Given the description of an element on the screen output the (x, y) to click on. 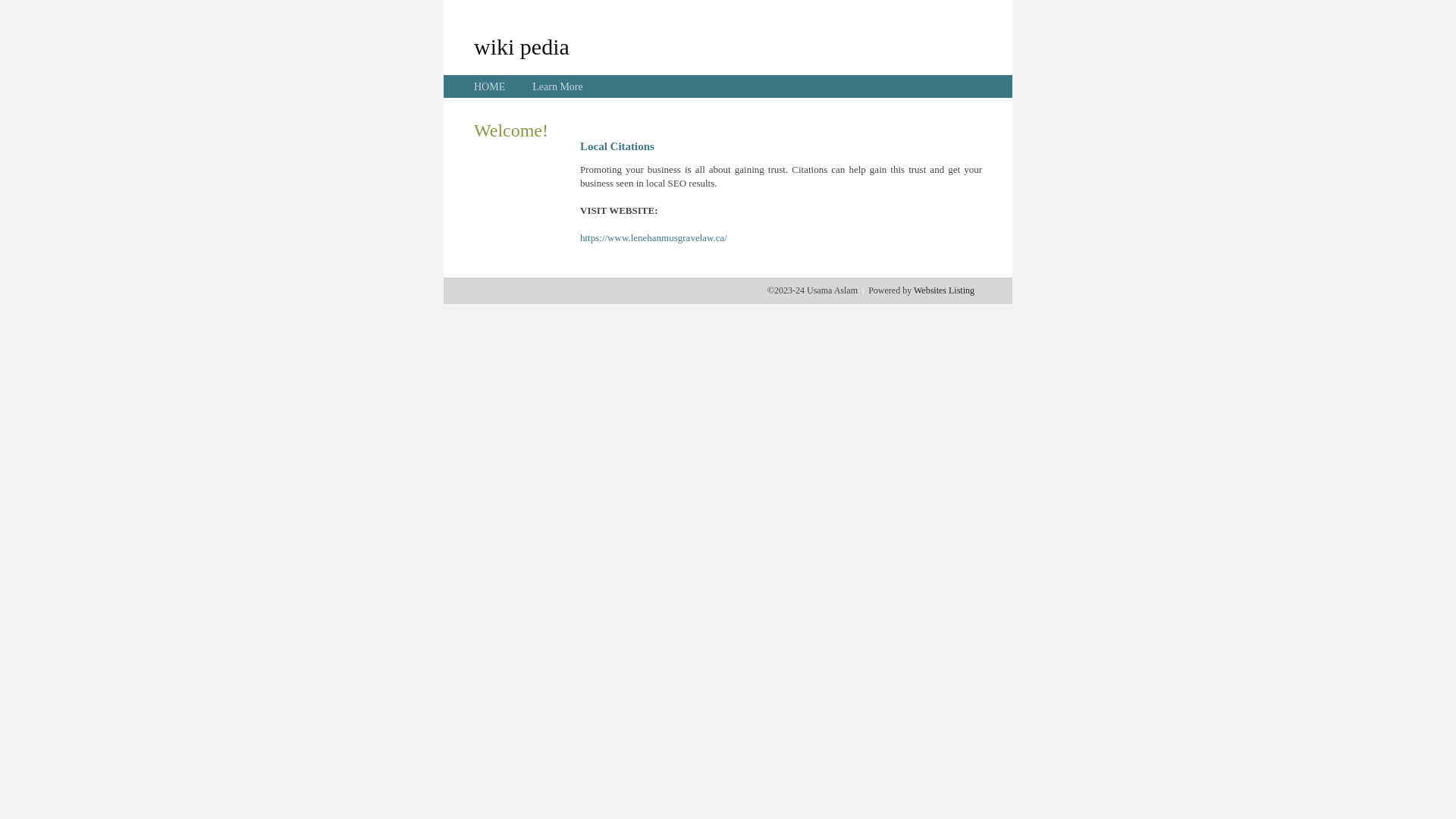
HOME Element type: text (489, 86)
wiki pedia Element type: text (521, 46)
Learn More Element type: text (557, 86)
https://www.lenehanmusgravelaw.ca/ Element type: text (653, 237)
Websites Listing Element type: text (943, 290)
